Given the description of an element on the screen output the (x, y) to click on. 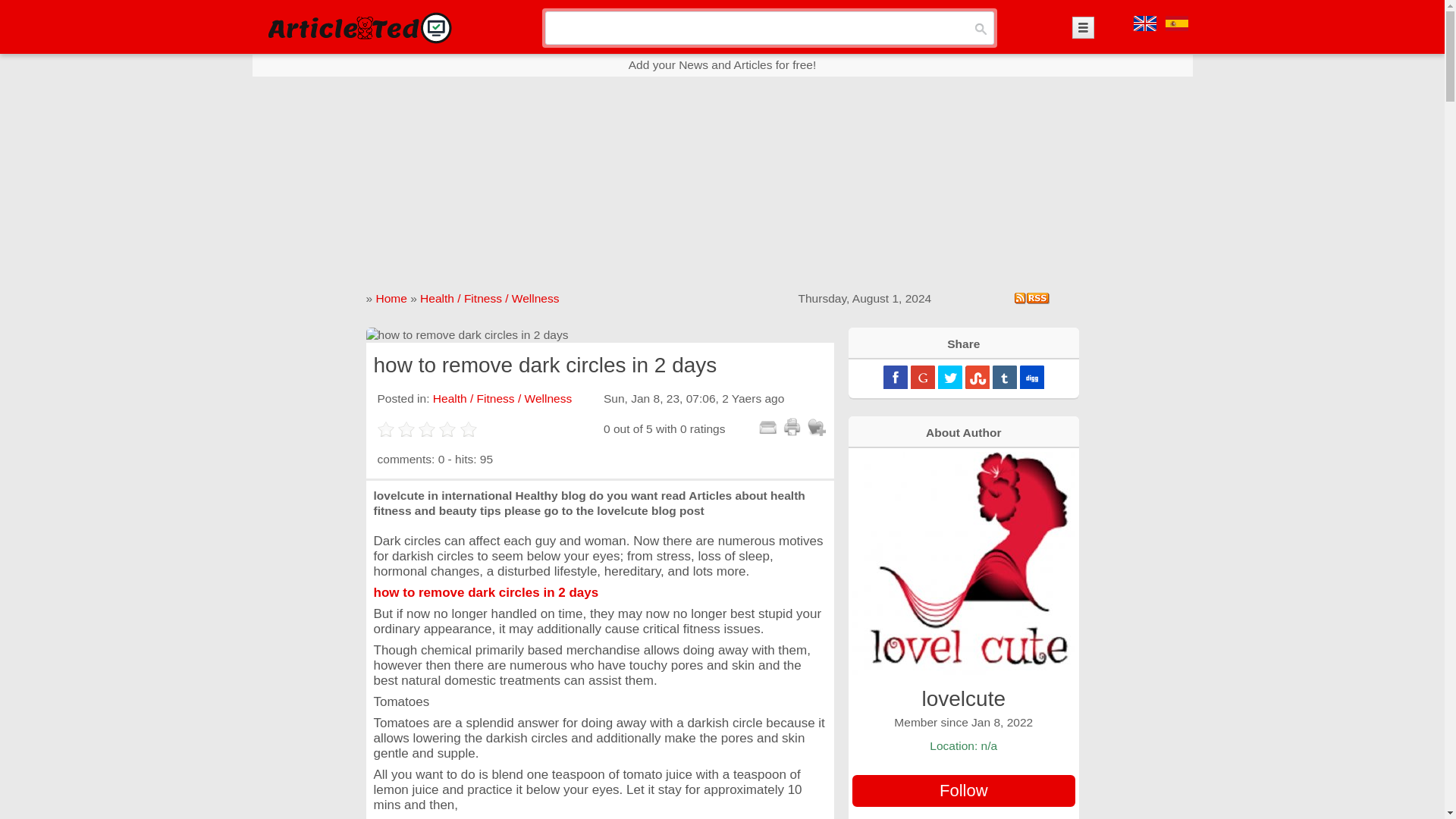
how to remove dark circles in 2 days (485, 592)
ArticleTed -  News and Articles (357, 27)
how to remove dark circles in 2 days (598, 335)
Home (390, 297)
Follow (963, 790)
